Given the description of an element on the screen output the (x, y) to click on. 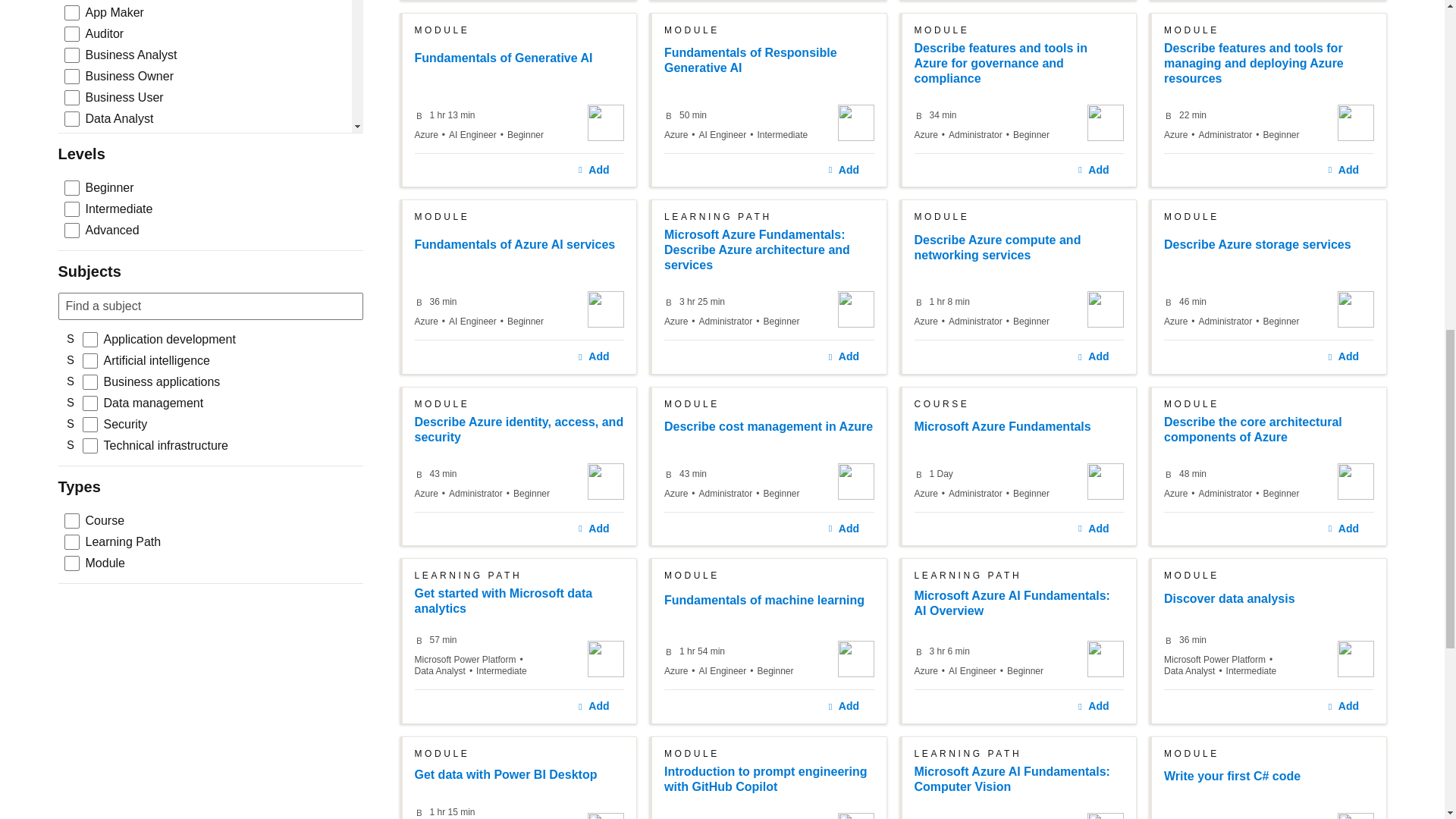
fabric (210, 544)
mem (210, 212)
